Given the description of an element on the screen output the (x, y) to click on. 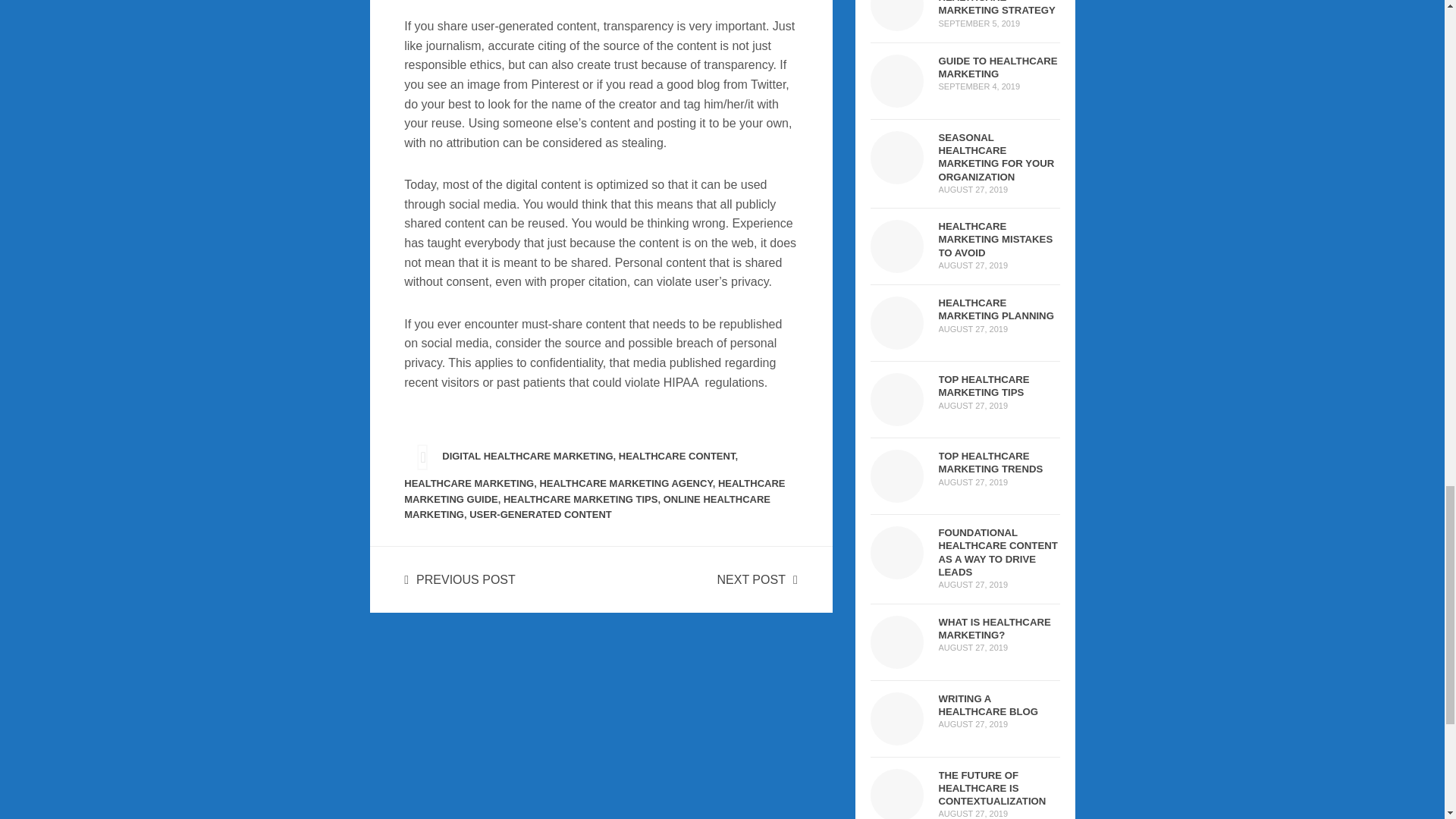
PREVIOUS POST (459, 579)
NEXT POST (757, 579)
DIGITAL HEALTHCARE MARKETING (527, 455)
USER-GENERATED CONTENT (539, 514)
HEALTHCARE CONTENT (676, 455)
HEALTHCARE MARKETING (469, 482)
ONLINE HEALTHCARE MARKETING (587, 506)
HEALTHCARE MARKETING TIPS (580, 499)
HEALTHCARE MARKETING AGENCY (624, 482)
HEALTHCARE MARKETING GUIDE (594, 491)
